Given the description of an element on the screen output the (x, y) to click on. 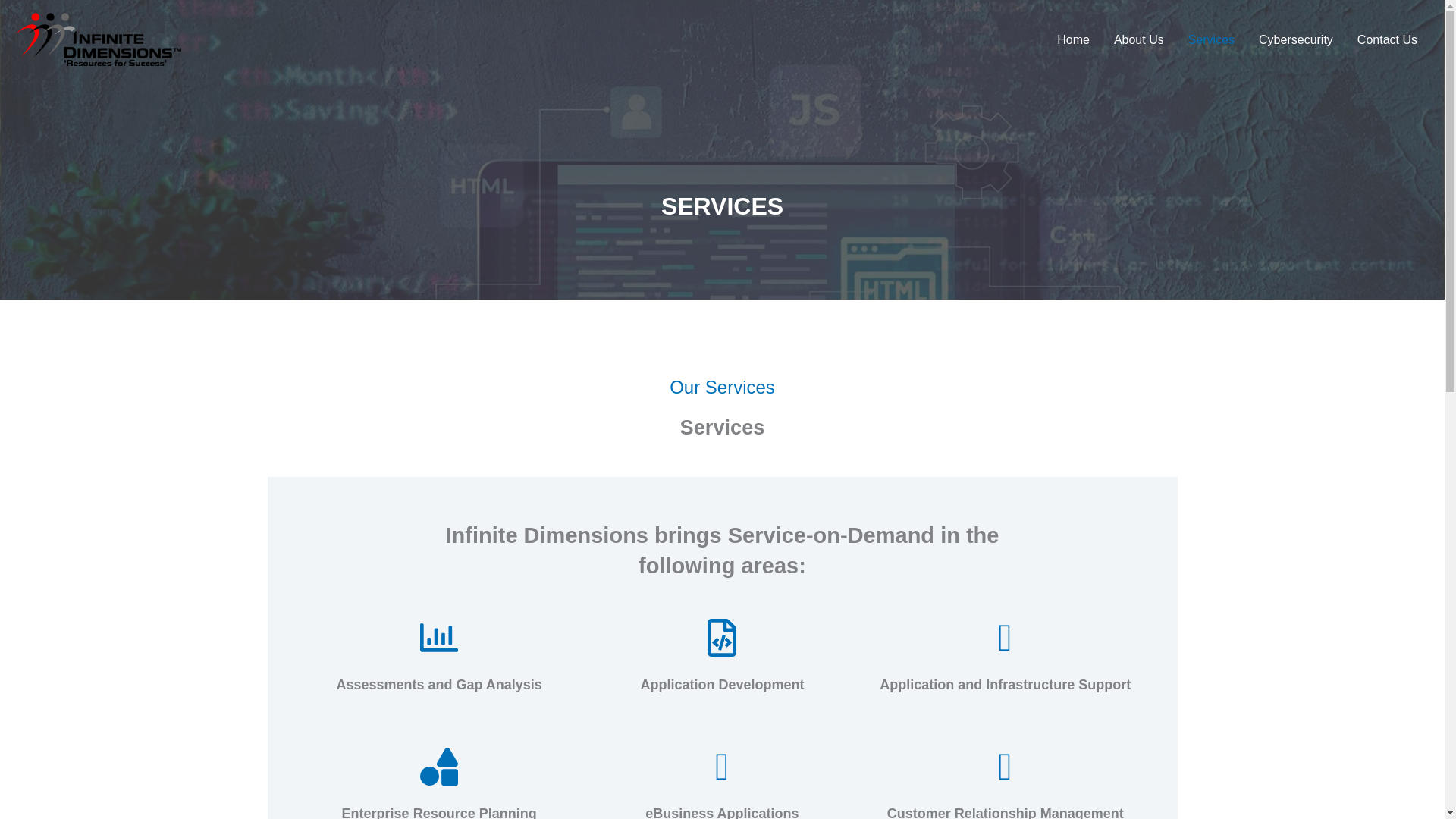
Contact Us (1387, 39)
Cybersecurity (1295, 39)
Services (1211, 39)
About Us (1139, 39)
Home (1073, 39)
